Given the description of an element on the screen output the (x, y) to click on. 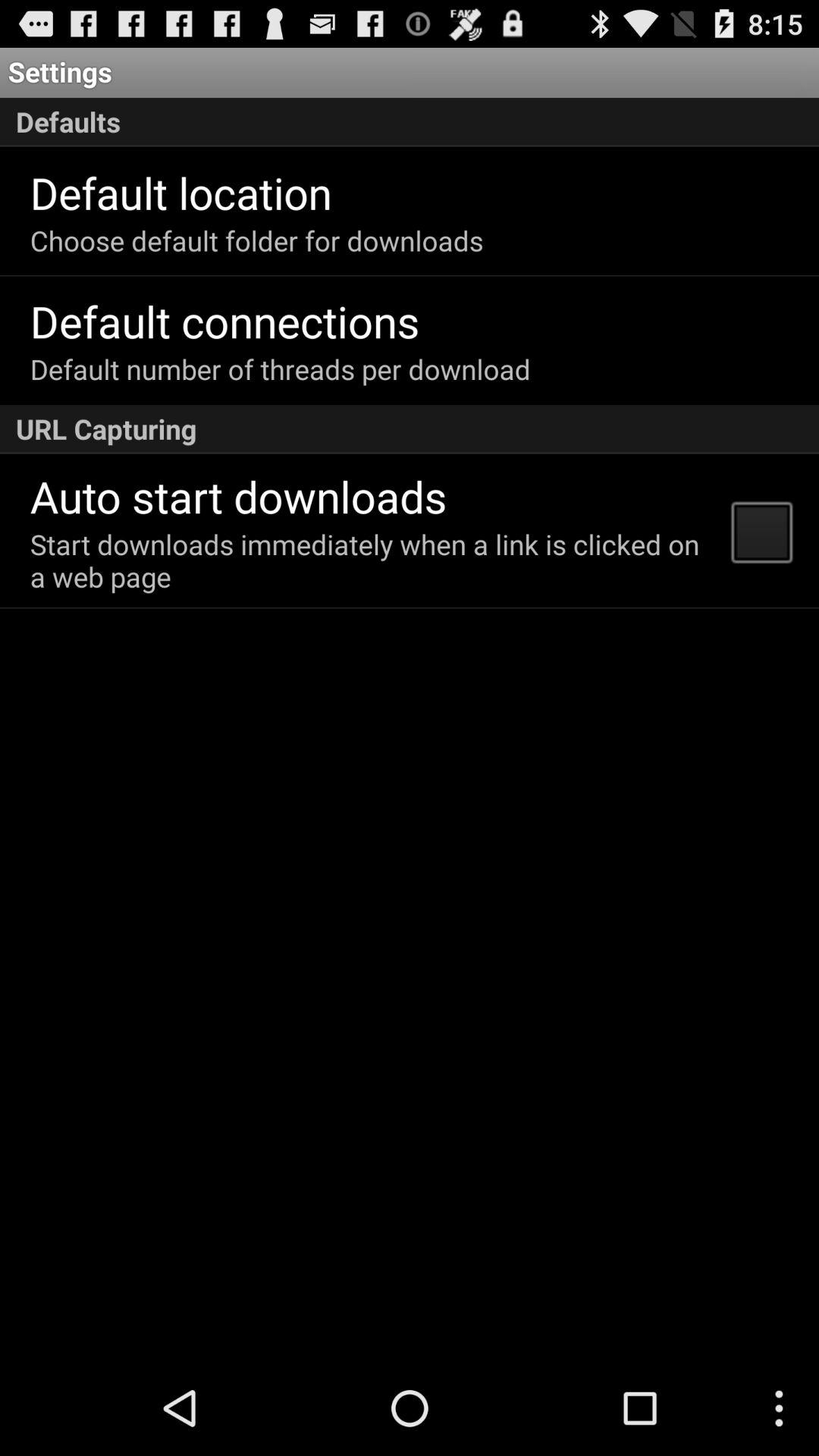
open default location item (181, 192)
